Given the description of an element on the screen output the (x, y) to click on. 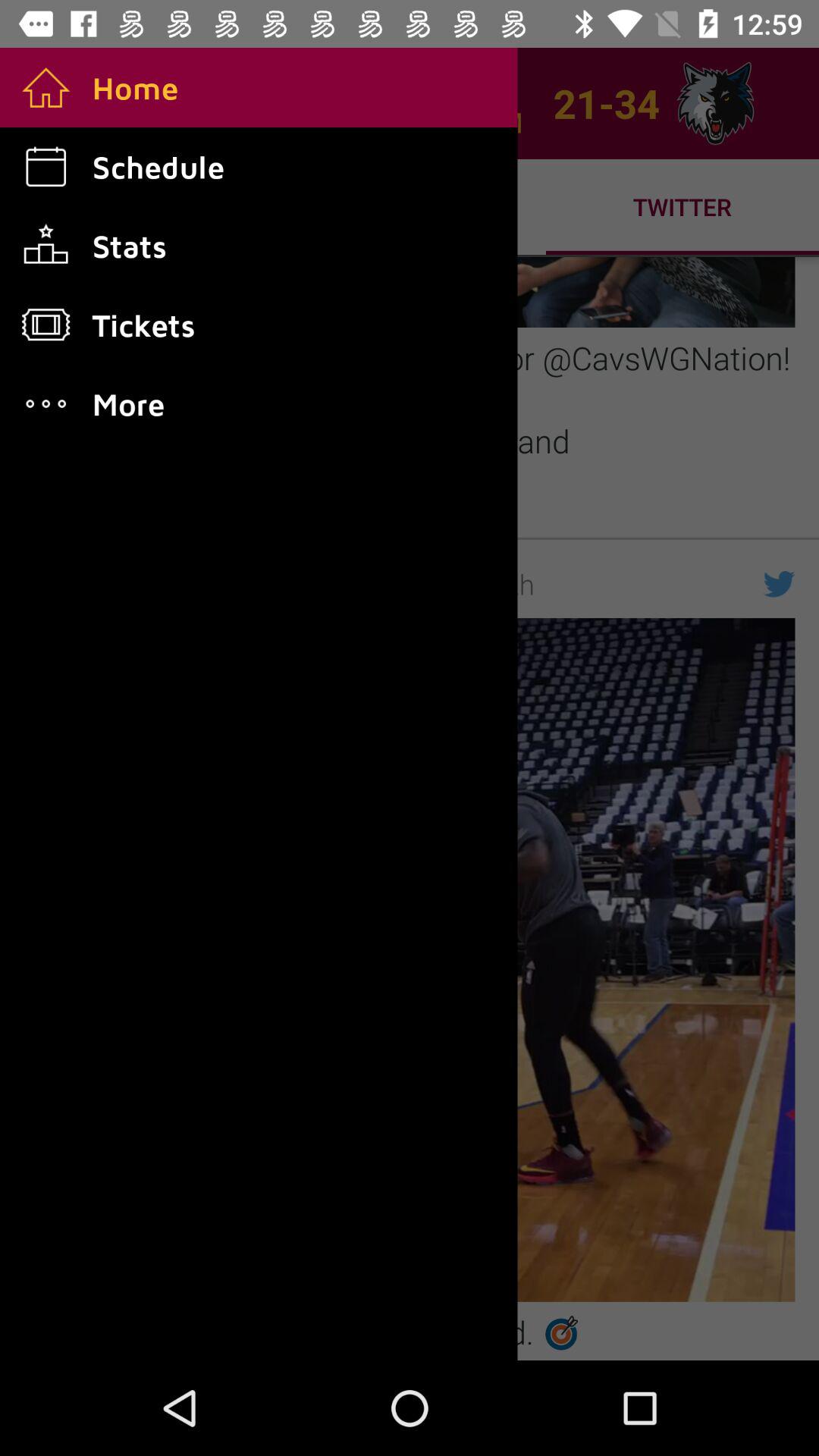
select the icon which is having bird symbol (779, 583)
